Given the description of an element on the screen output the (x, y) to click on. 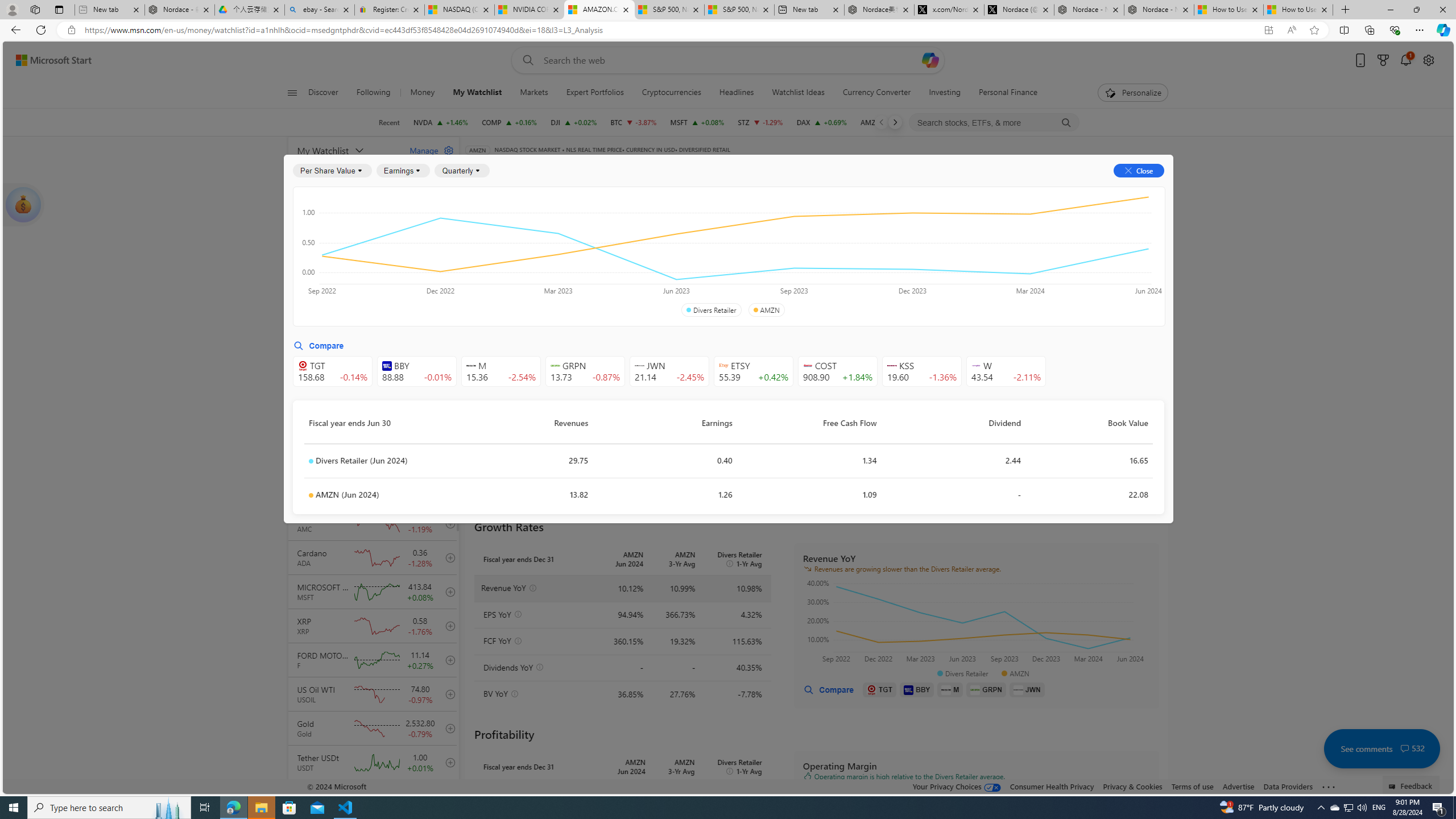
Per Share Value (331, 170)
add to your watchlist (447, 796)
App available. Install Start Money (1268, 29)
Compare (722, 166)
Enter your search term (730, 59)
Personalize (1132, 92)
Recent (389, 121)
My Watchlist (346, 150)
Open Copilot (930, 59)
Terms of use (1192, 786)
M (950, 689)
JWN (1027, 689)
Open Copilot (930, 59)
